Given the description of an element on the screen output the (x, y) to click on. 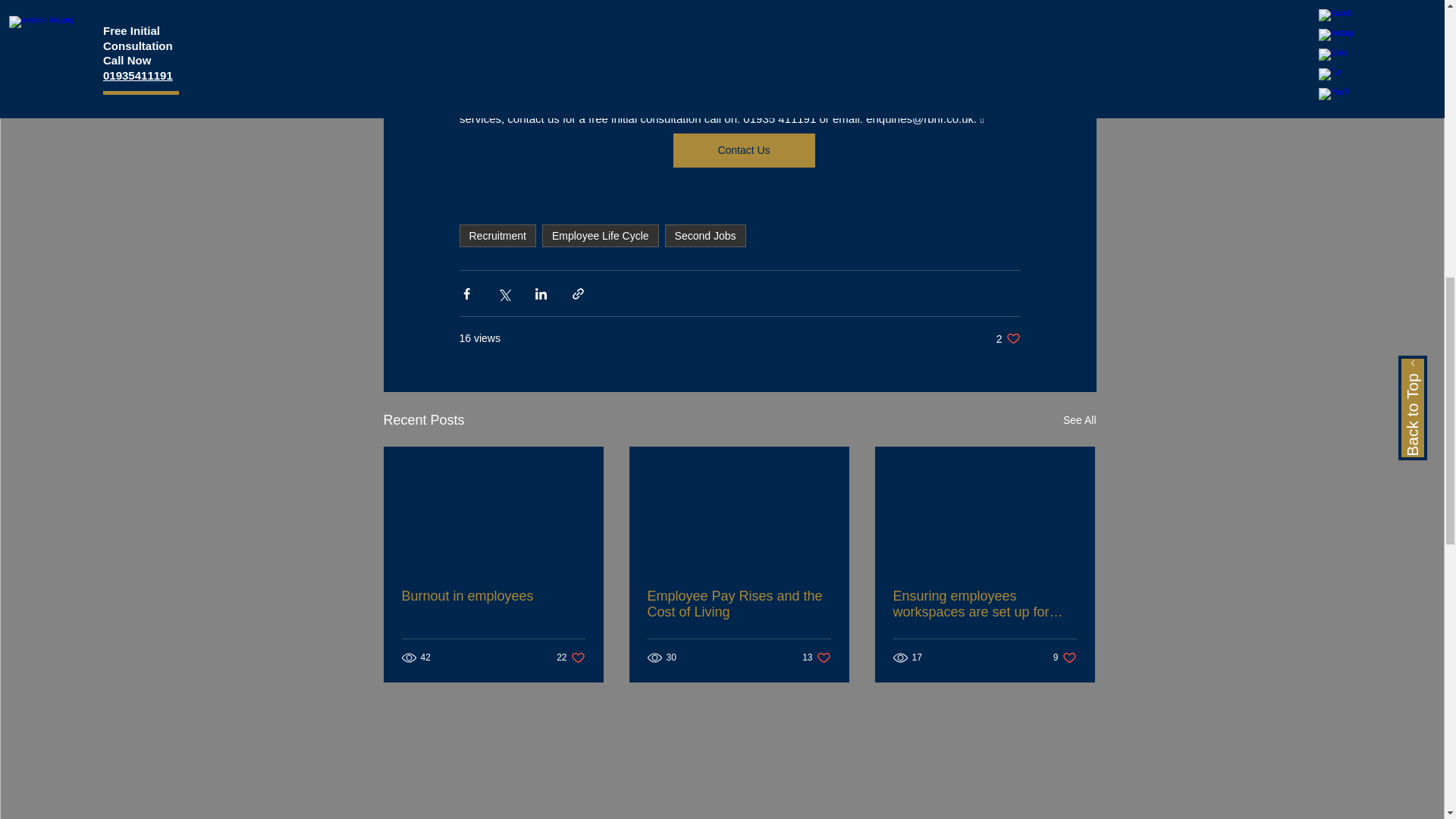
See All (1079, 420)
Employee Life Cycle (570, 657)
Burnout in employees (600, 235)
Recruitment (493, 596)
Second Jobs (497, 235)
Employee Pay Rises and the Cost of Living (815, 657)
Contact Us (705, 235)
